Given the description of an element on the screen output the (x, y) to click on. 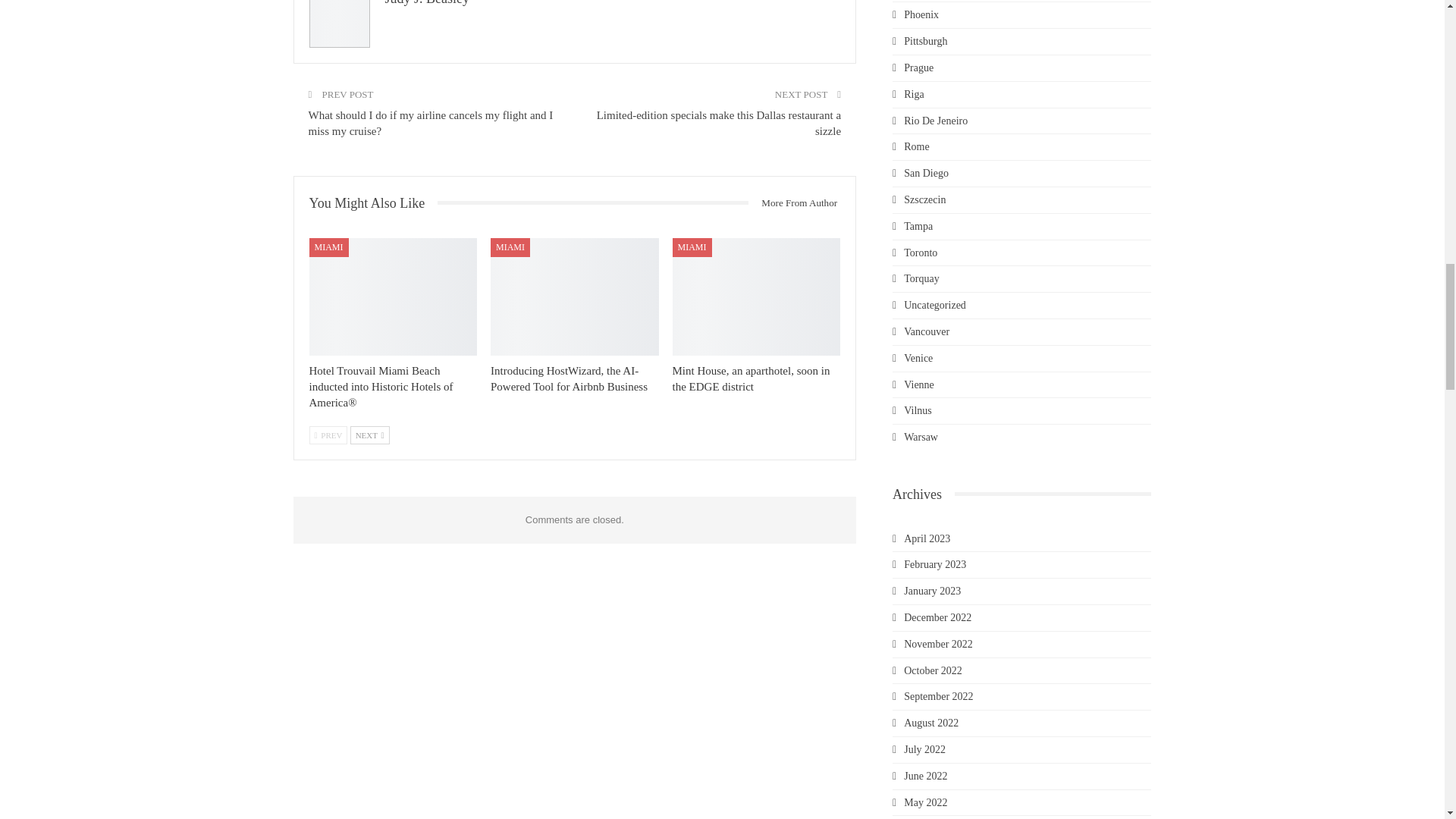
MIAMI (328, 247)
Judy J. Beasley (427, 2)
MIAMI (509, 247)
More From Author (794, 202)
You Might Also Like (373, 203)
Mint House, an aparthotel, soon in the EDGE district (750, 378)
Mint House, an aparthotel, soon in the EDGE district (756, 296)
